Given the description of an element on the screen output the (x, y) to click on. 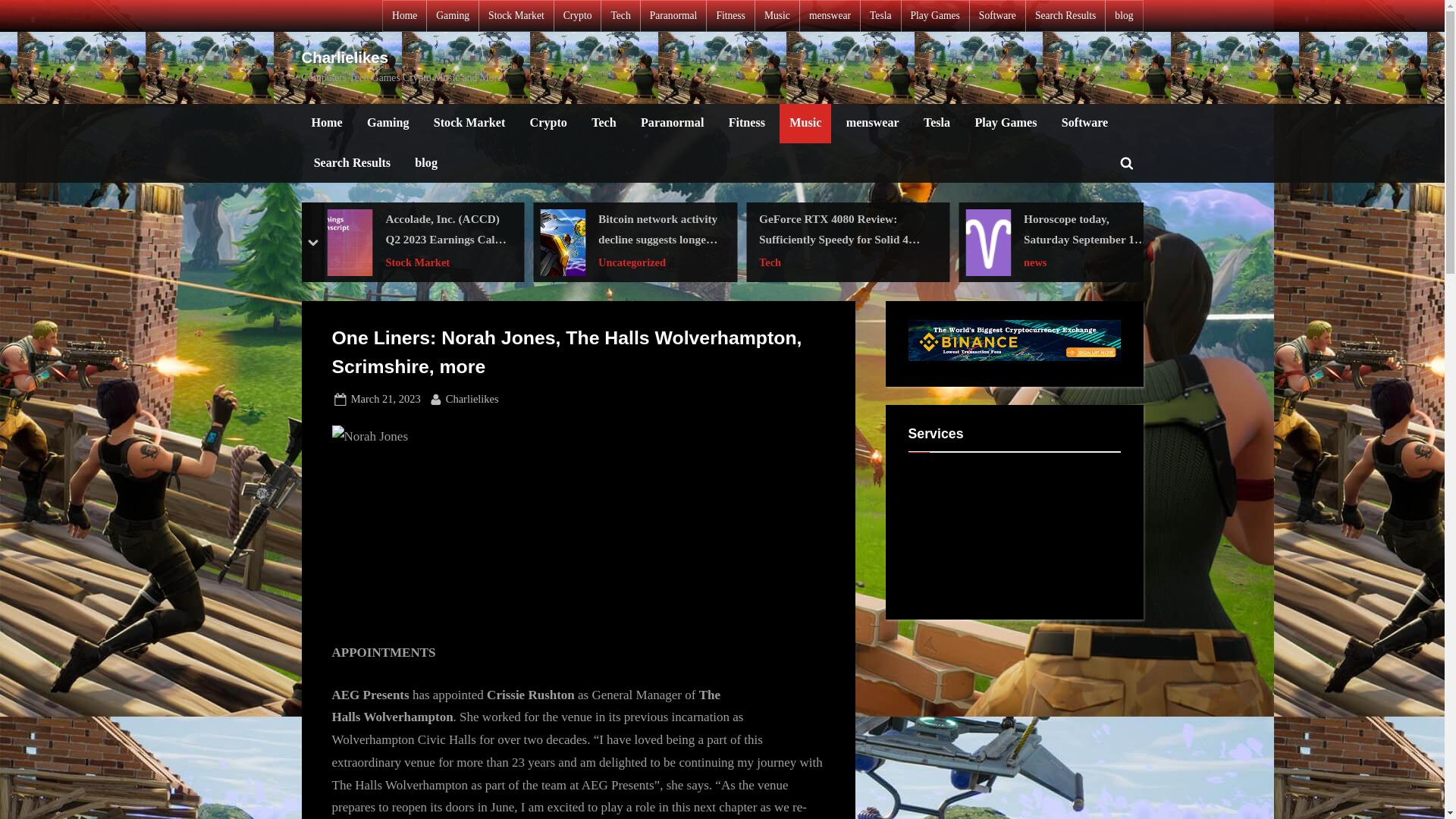
Gaming (451, 15)
blog (425, 162)
blog (1123, 15)
Tech (603, 123)
Paranormal (671, 123)
Play Games (934, 15)
Software (1084, 123)
Tesla (936, 123)
Music (804, 123)
Tech (620, 15)
